Given the description of an element on the screen output the (x, y) to click on. 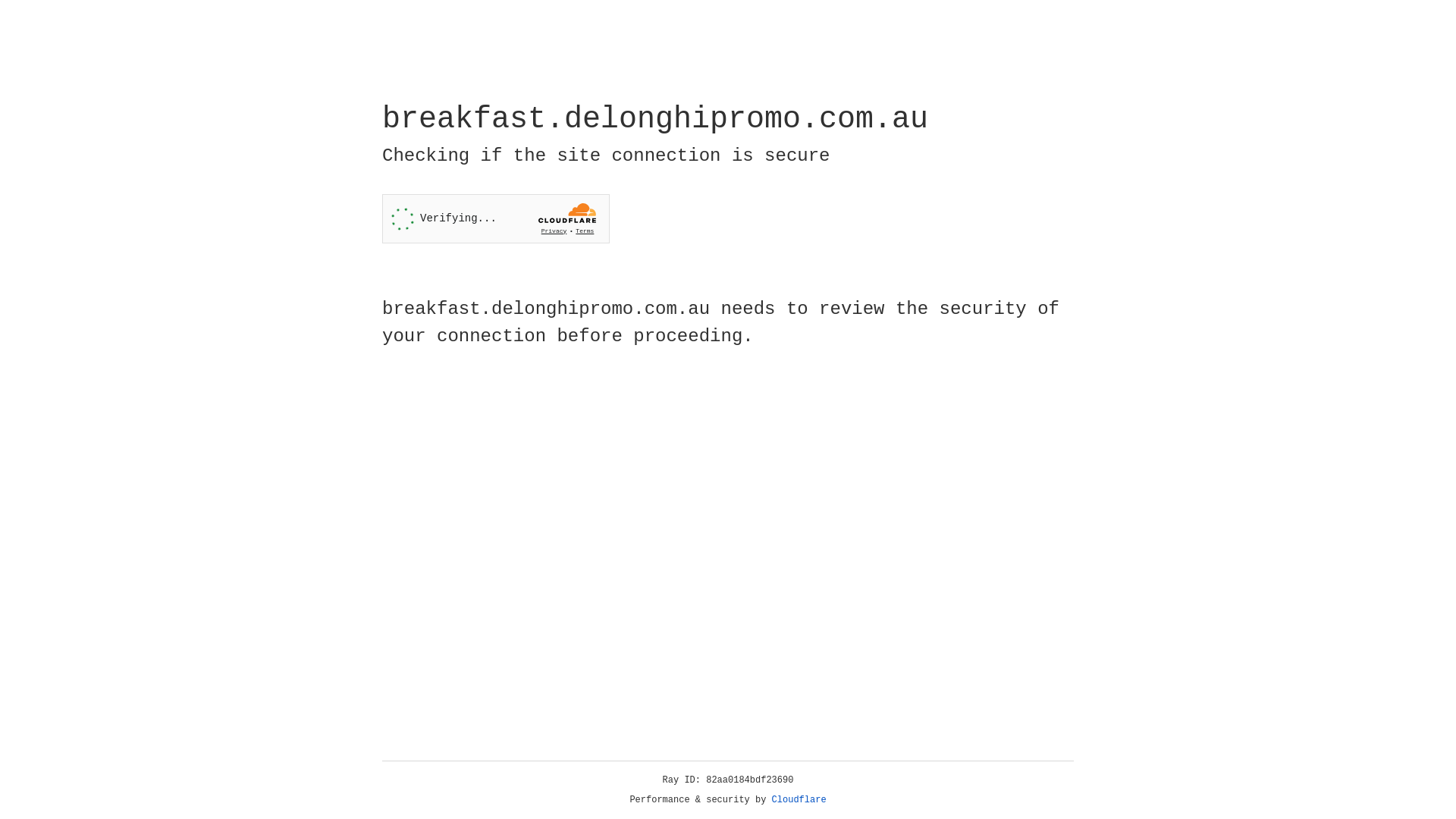
Cloudflare Element type: text (798, 799)
Widget containing a Cloudflare security challenge Element type: hover (495, 218)
